Given the description of an element on the screen output the (x, y) to click on. 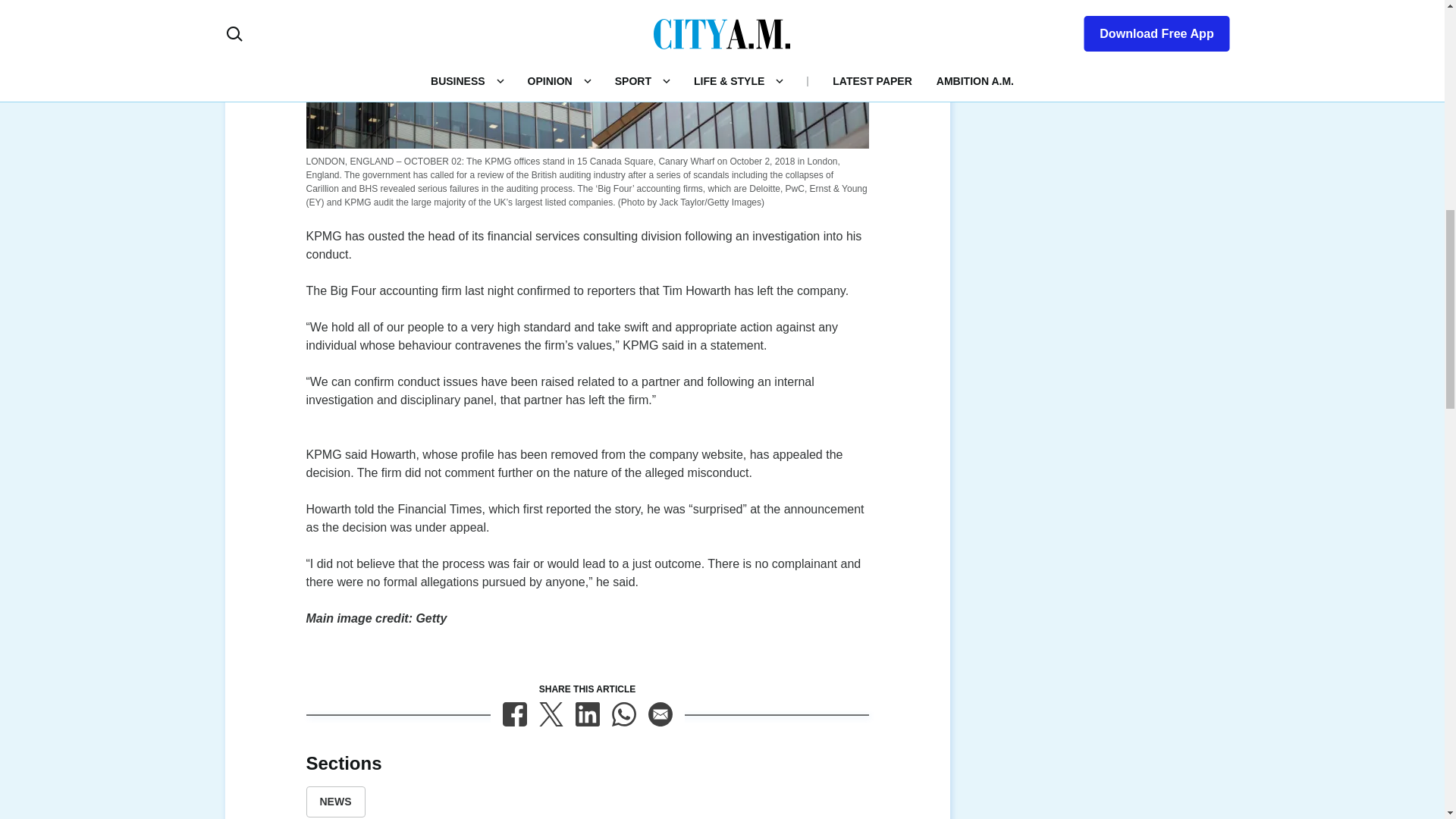
LinkedIn (586, 713)
Email (659, 713)
X (550, 713)
Facebook (513, 713)
WhatsApp (622, 713)
